Given the description of an element on the screen output the (x, y) to click on. 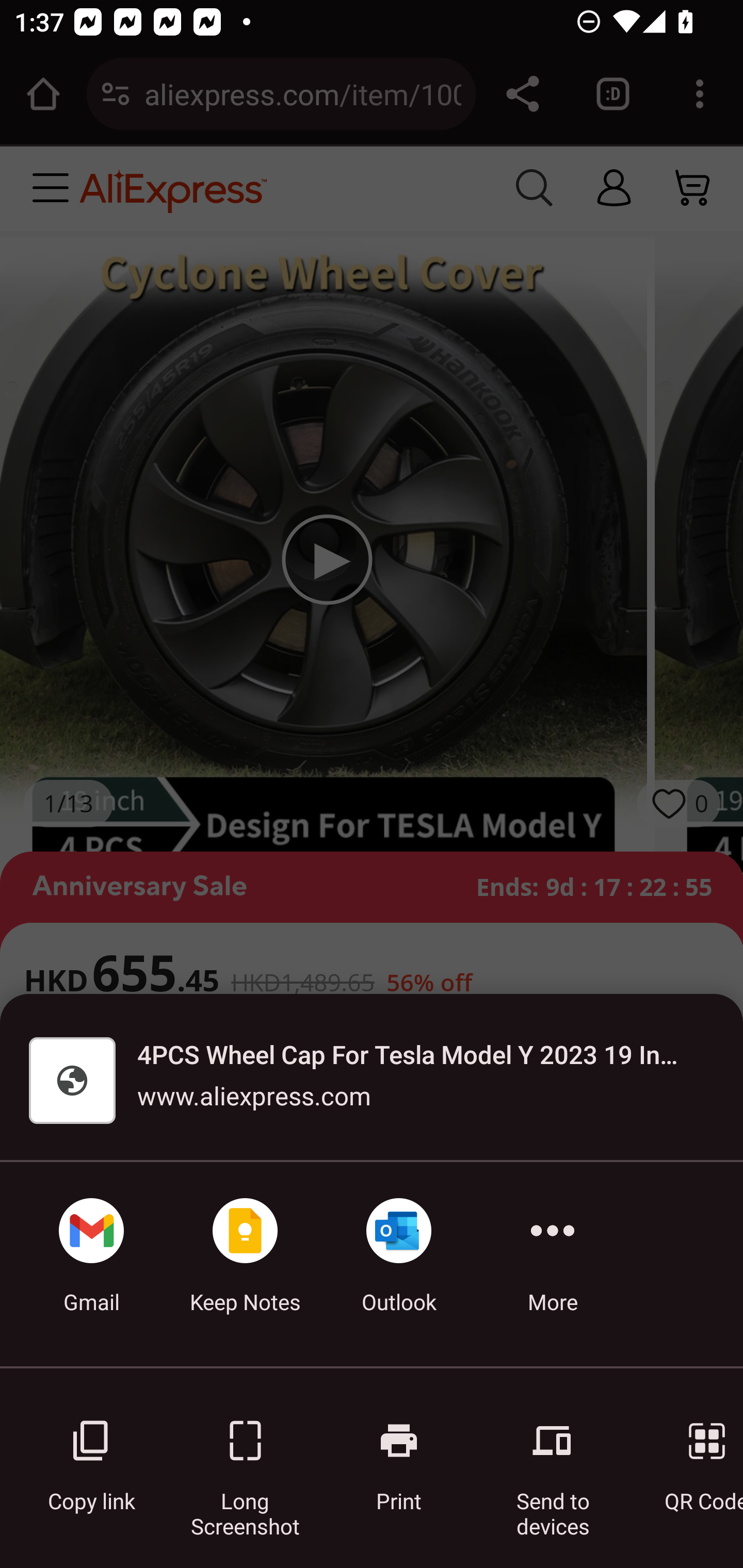
Gmail (90, 1263)
Keep Notes (244, 1263)
Outlook (398, 1263)
More (552, 1263)
Copy link (90, 1454)
Long Screenshot (244, 1454)
Print (398, 1454)
Send to devices (552, 1454)
QR Code (693, 1454)
